Given the description of an element on the screen output the (x, y) to click on. 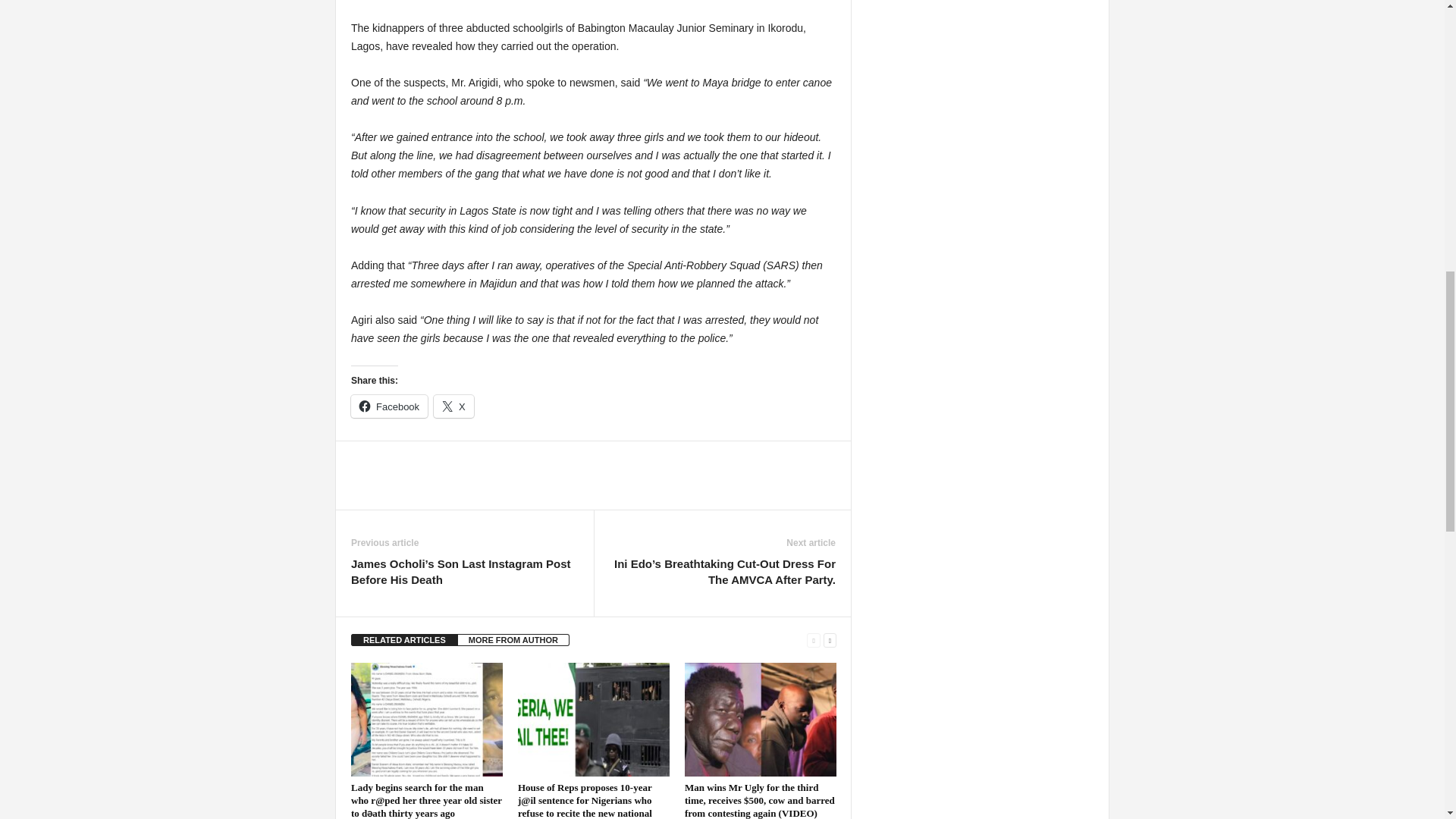
Click to share on Facebook (389, 405)
X (453, 405)
bottomFacebookLike (390, 456)
Click to share on X (453, 405)
Facebook (389, 405)
